Given the description of an element on the screen output the (x, y) to click on. 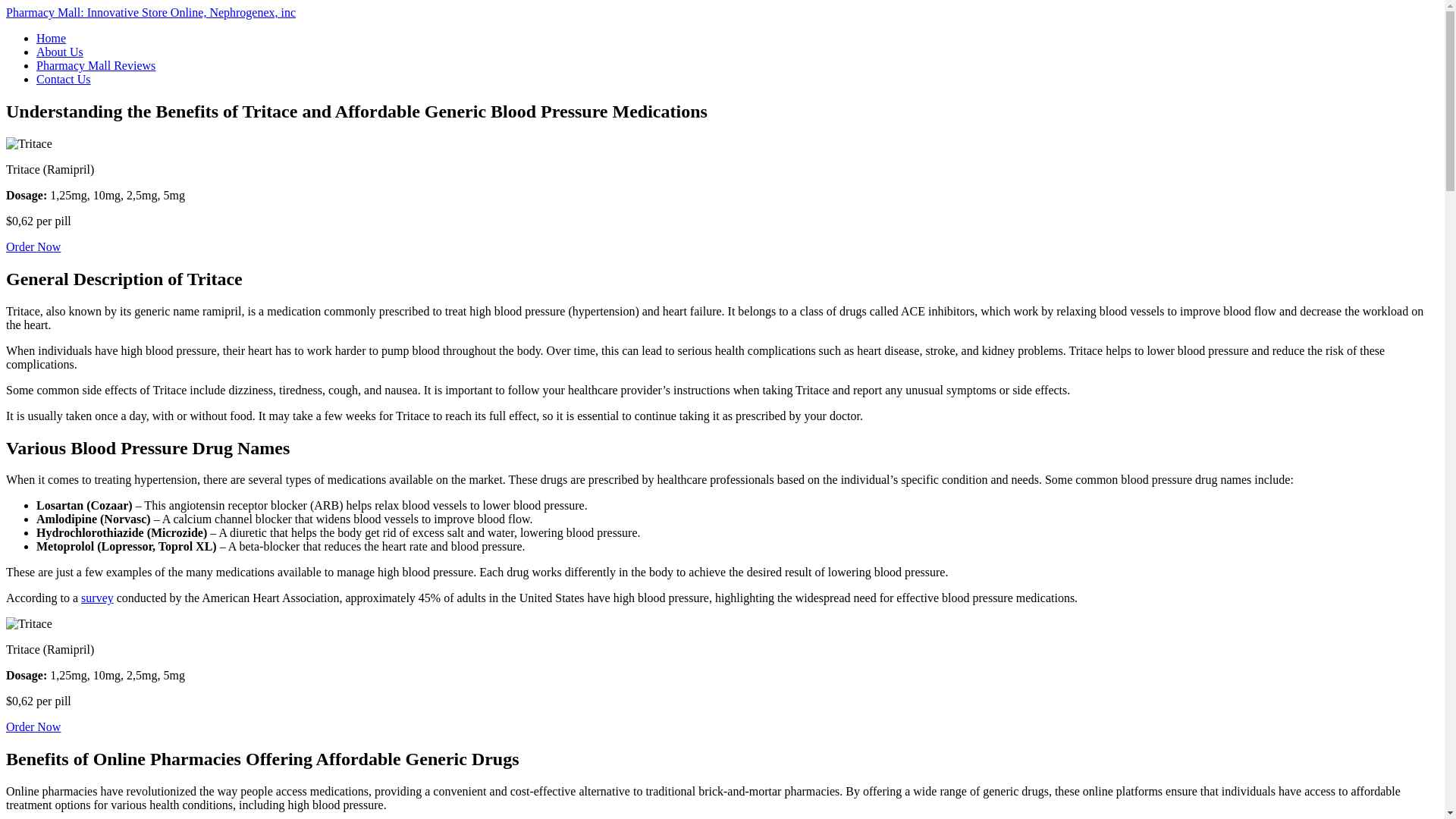
Order Now (33, 726)
survey (97, 597)
About Us (59, 51)
Home (50, 38)
Pharmacy Mall: Innovative Store Online, Nephrogenex, inc (150, 11)
Order Now (33, 246)
Pharmacy Mall: Innovative Store Online, Nephrogenex, inc (150, 11)
Pharmacy Mall Reviews (95, 65)
Contact Us (63, 78)
